Given the description of an element on the screen output the (x, y) to click on. 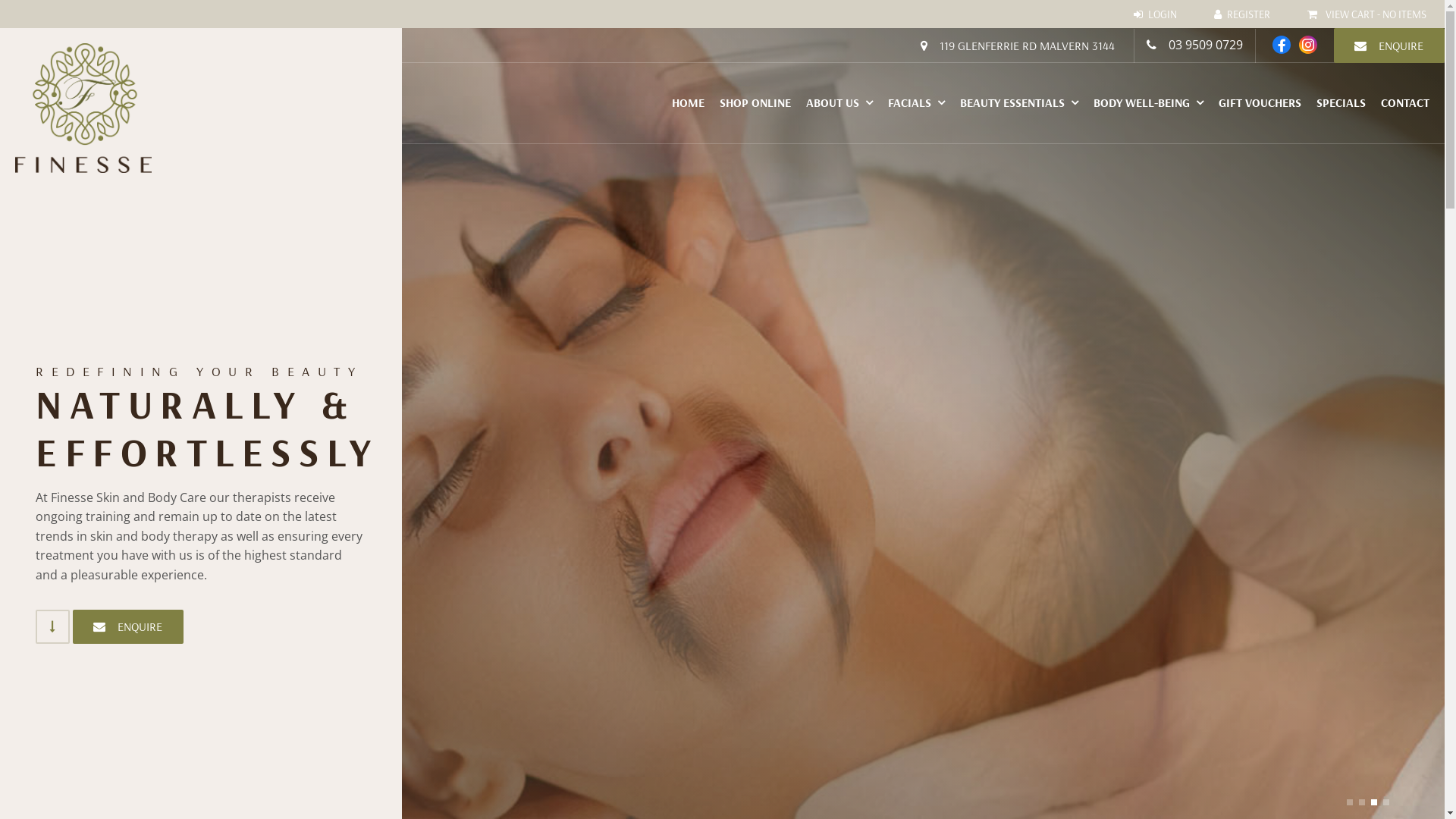
VIEW CART - NO ITEMS Element type: text (1366, 14)
ENQUIRE Element type: text (127, 626)
FACIALS Element type: text (916, 102)
119 GLENFERRIE RD MALVERN 3144 Element type: text (1016, 45)
CONTACT Element type: text (1405, 102)
BODY WELL-BEING Element type: text (1148, 102)
GIFT VOUCHERS Element type: text (1259, 102)
BEAUTY ESSENTIALS Element type: text (1018, 102)
SHOP ONLINE Element type: text (755, 102)
HOME Element type: text (688, 102)
SPECIALS Element type: text (1340, 102)
ABOUT US Element type: text (839, 102)
ENQUIRE Element type: text (1388, 45)
